Given the description of an element on the screen output the (x, y) to click on. 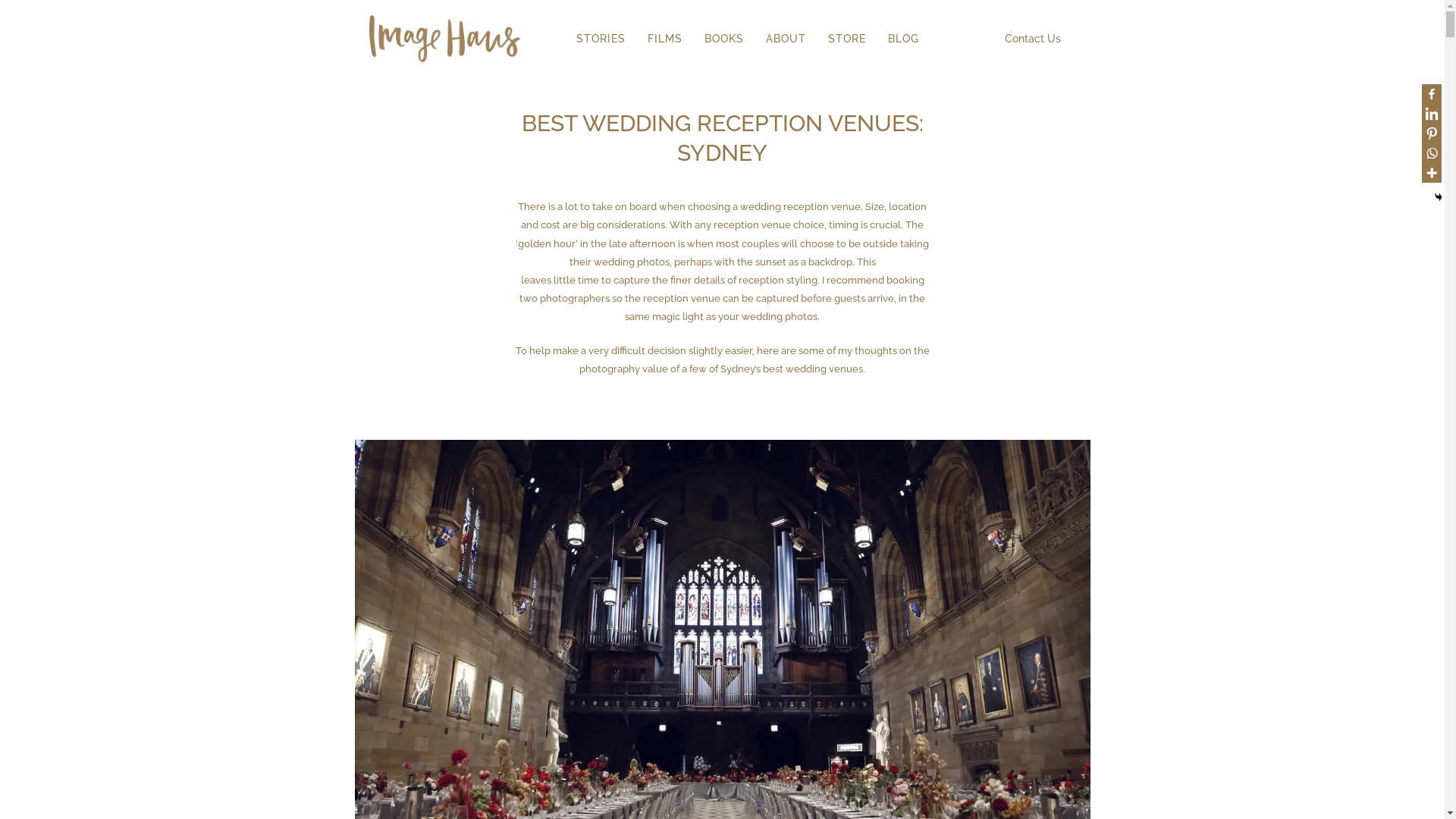
Contact Us Element type: text (1029, 38)
Whatsapp Element type: hover (1431, 153)
BOOKS Element type: text (723, 38)
Facebook Element type: hover (1431, 93)
ABOUT Element type: text (785, 38)
STORIES Element type: text (600, 38)
image haus logo Element type: hover (443, 38)
BEST WEDDING RECEPTION VENUES: SYDNEY Element type: text (722, 137)
Pinterest Element type: hover (1431, 133)
FILMS Element type: text (665, 38)
More Element type: hover (1431, 172)
STORE Element type: text (846, 38)
Hide Element type: hover (1438, 197)
Linkedin Element type: hover (1431, 113)
BLOG Element type: text (903, 38)
